Given the description of an element on the screen output the (x, y) to click on. 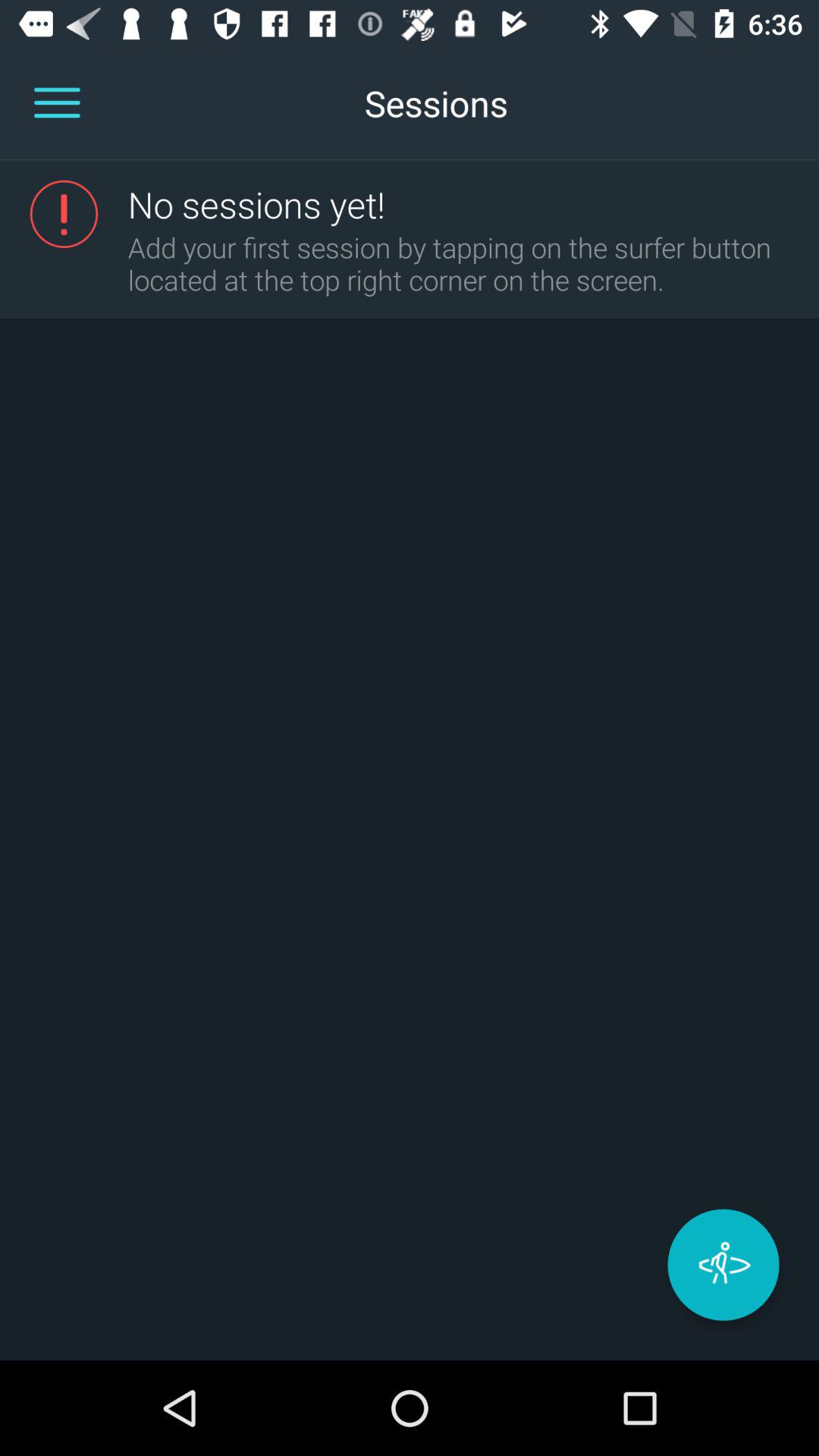
open app menu (57, 103)
